Given the description of an element on the screen output the (x, y) to click on. 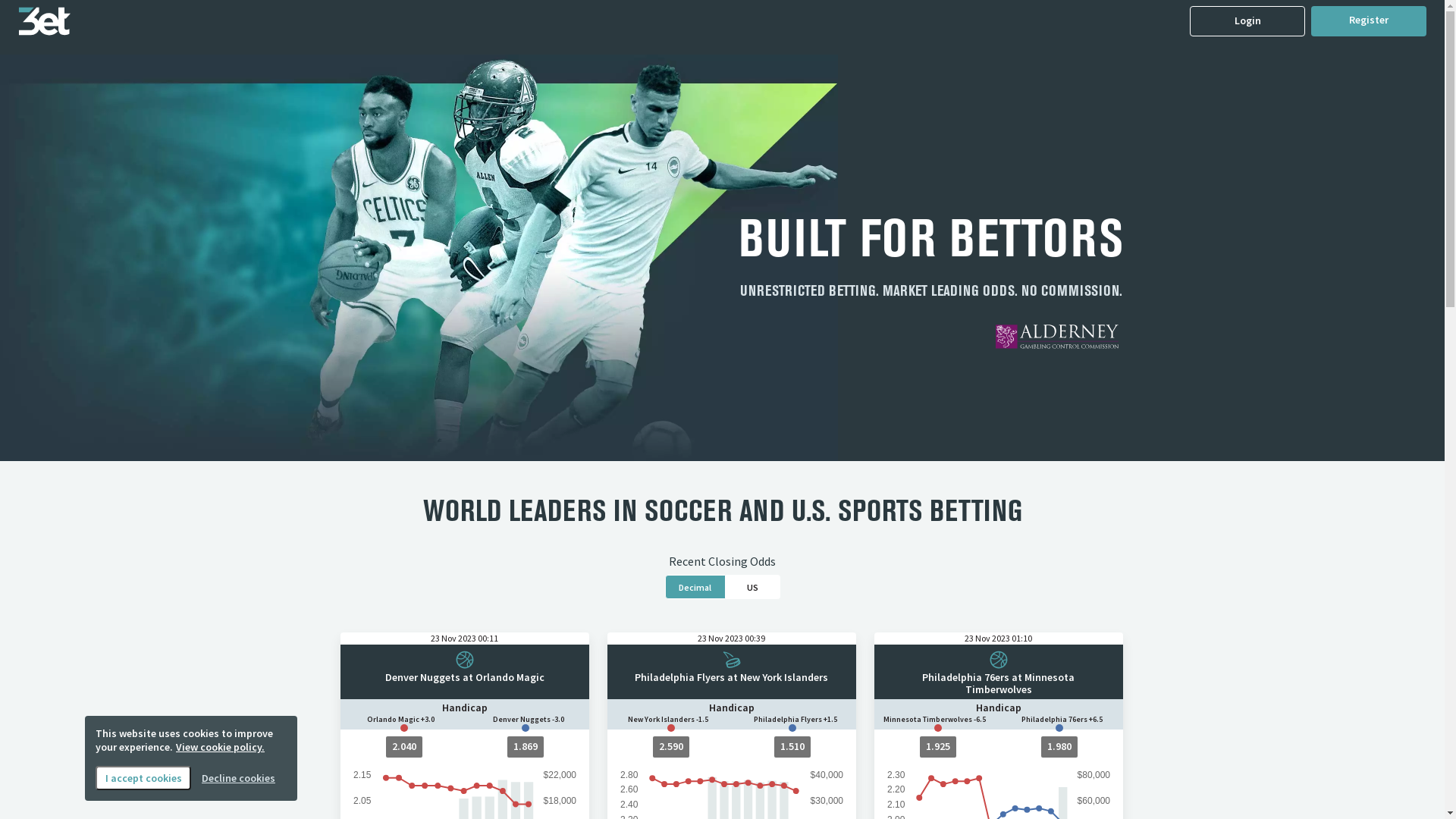
Register Element type: text (1368, 21)
Login Element type: text (1247, 21)
I accept cookies Element type: text (143, 777)
Decline cookies Element type: text (238, 777)
